Given the description of an element on the screen output the (x, y) to click on. 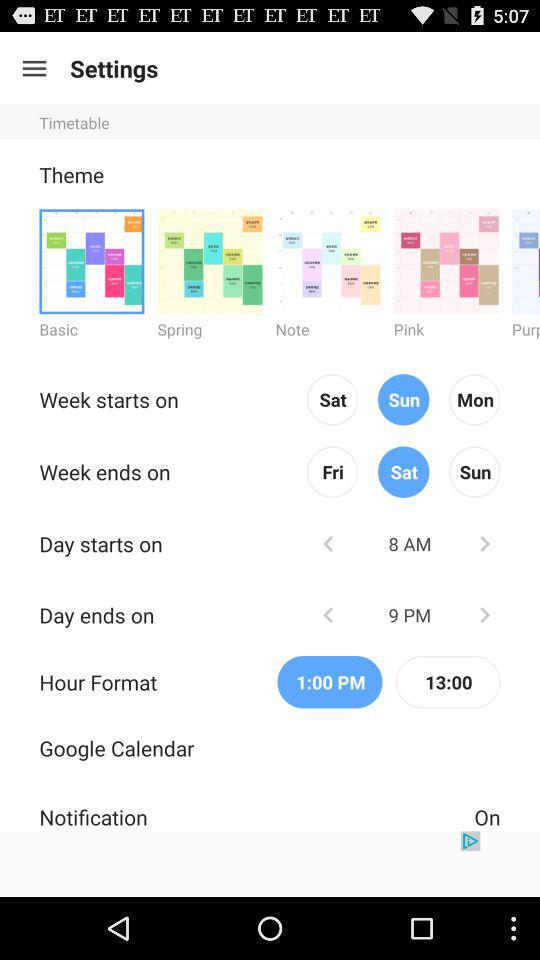
adjust the time field forward (484, 614)
